Given the description of an element on the screen output the (x, y) to click on. 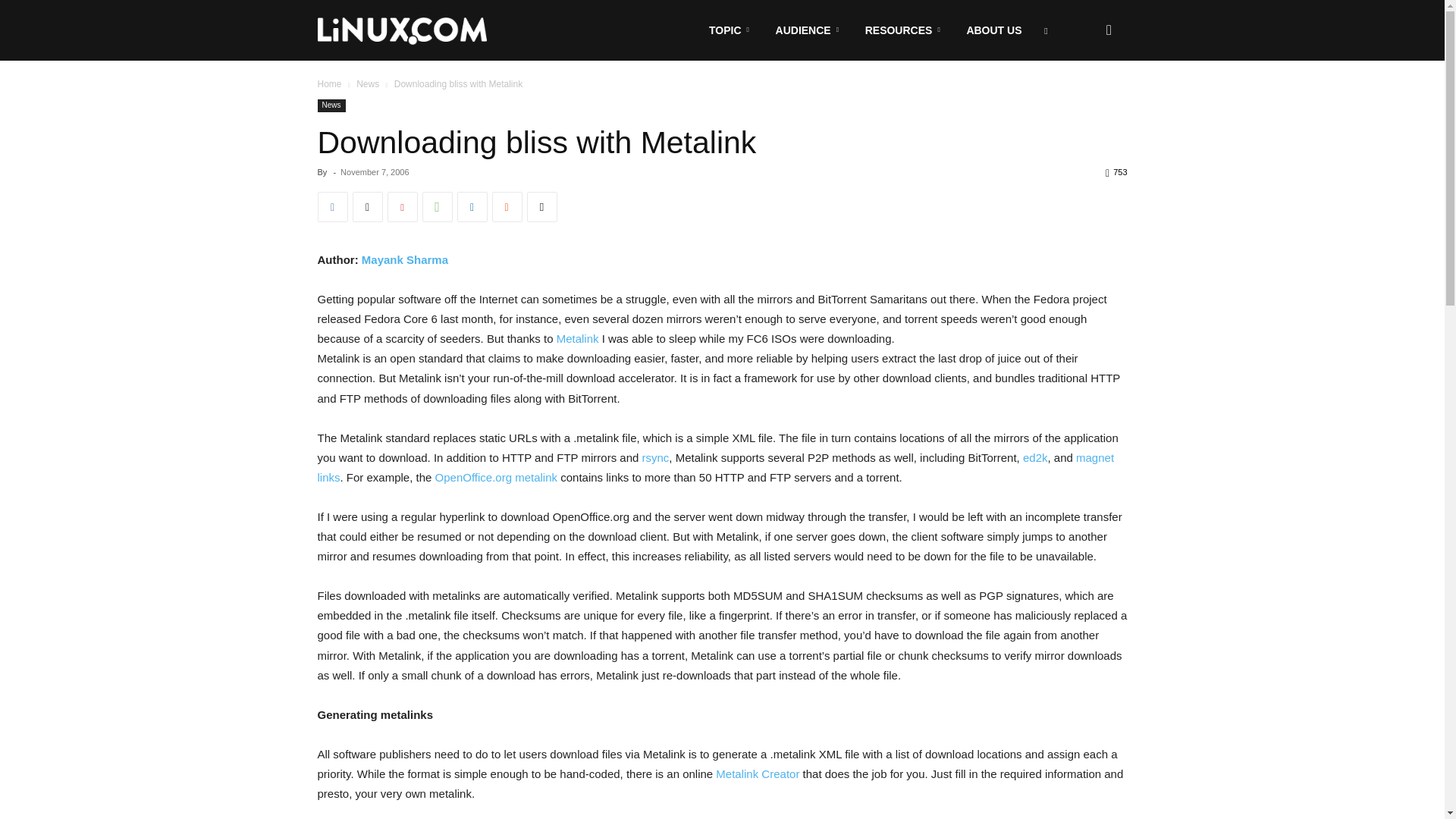
Twitter (366, 206)
Linkedin (471, 206)
TOPIC (731, 30)
Search (1085, 102)
WhatsApp (436, 206)
Pinterest (401, 206)
View all posts in News (367, 83)
ReddIt (506, 206)
Linux.com (401, 30)
Linux.com (401, 30)
Facebook (332, 206)
Email (540, 206)
